Given the description of an element on the screen output the (x, y) to click on. 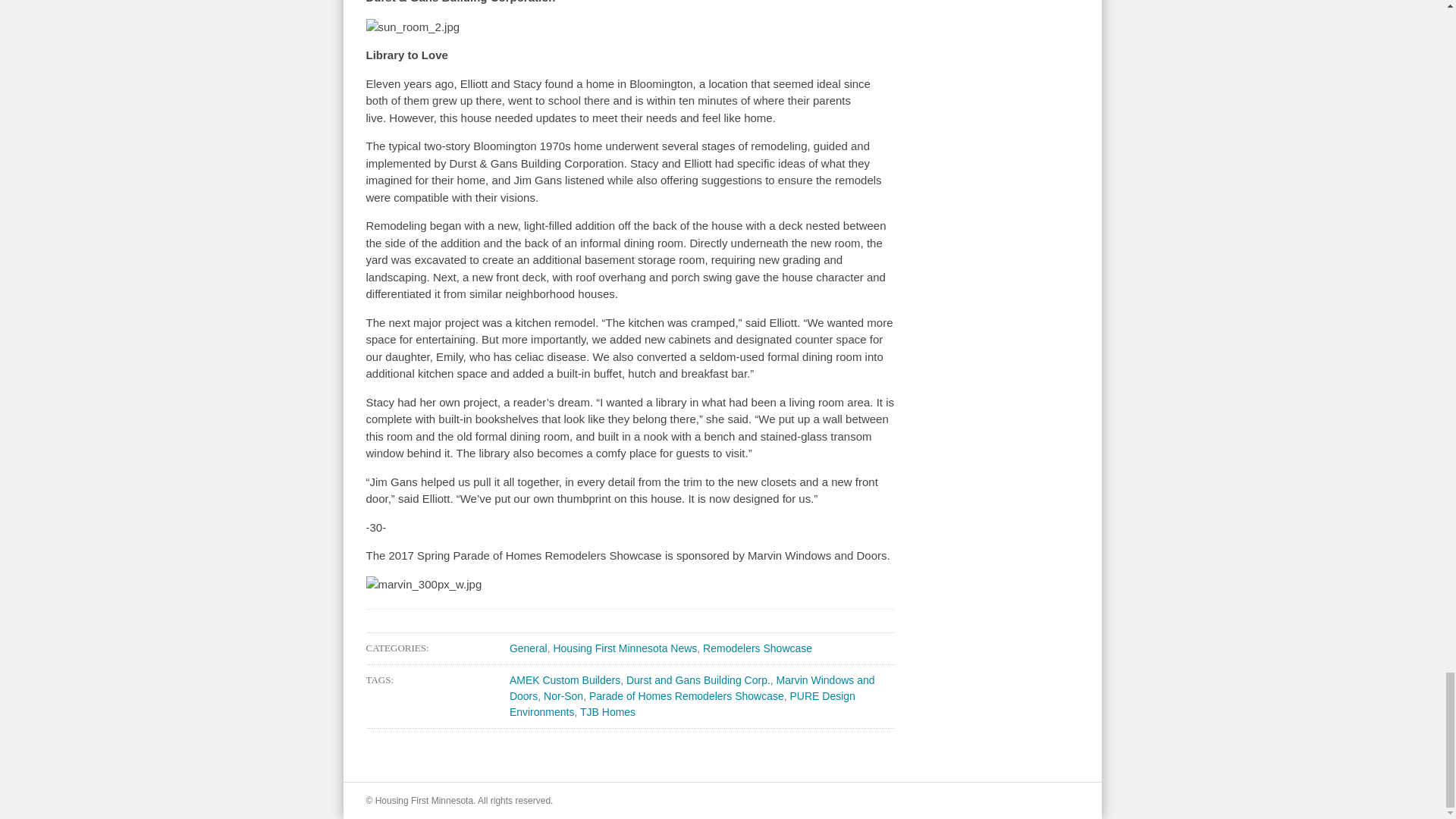
AMEK Custom Builders (564, 680)
General (528, 648)
Housing First Minnesota News (625, 648)
Remodelers Showcase (757, 648)
